Given the description of an element on the screen output the (x, y) to click on. 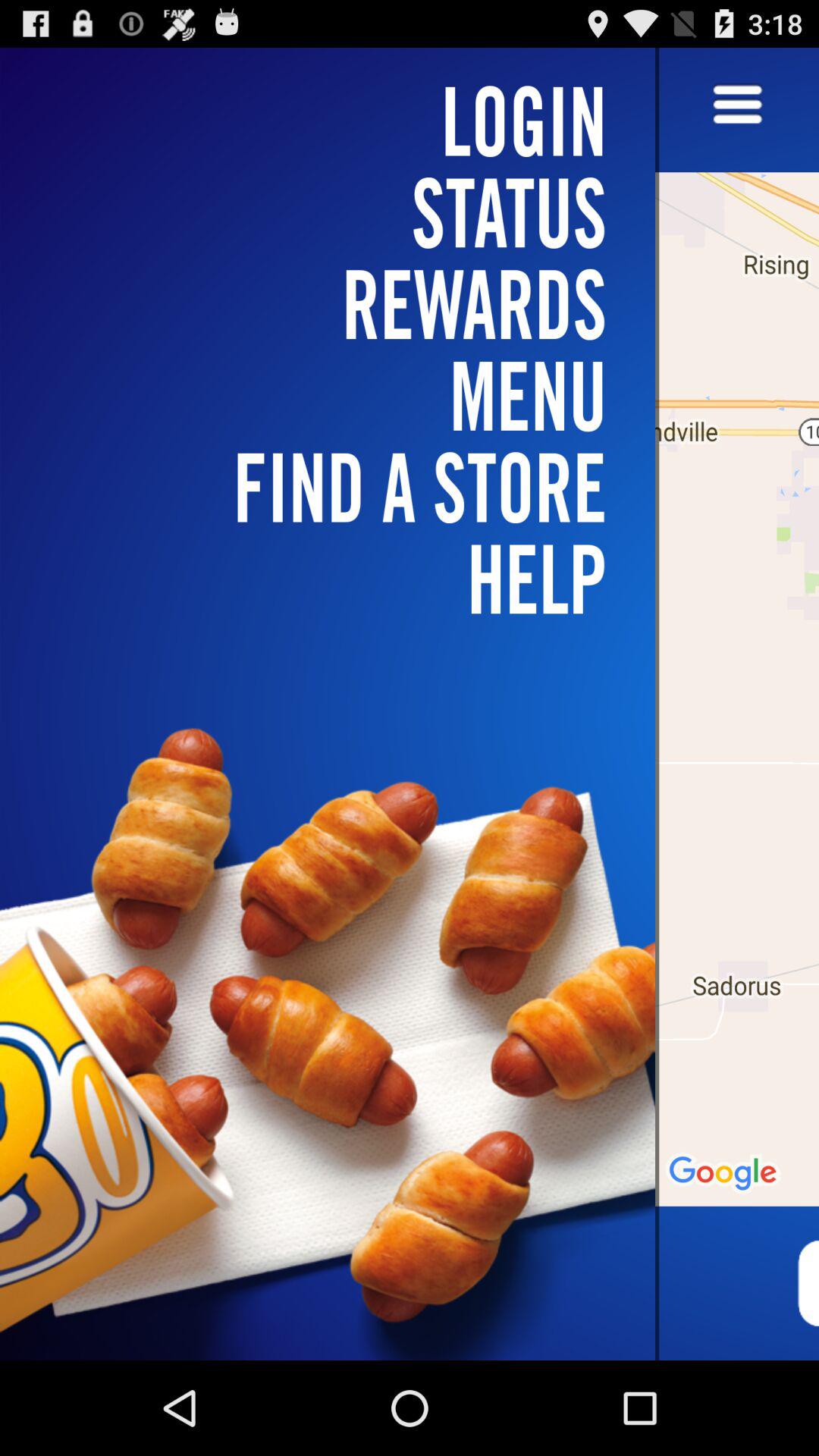
launch the status icon (336, 212)
